Given the description of an element on the screen output the (x, y) to click on. 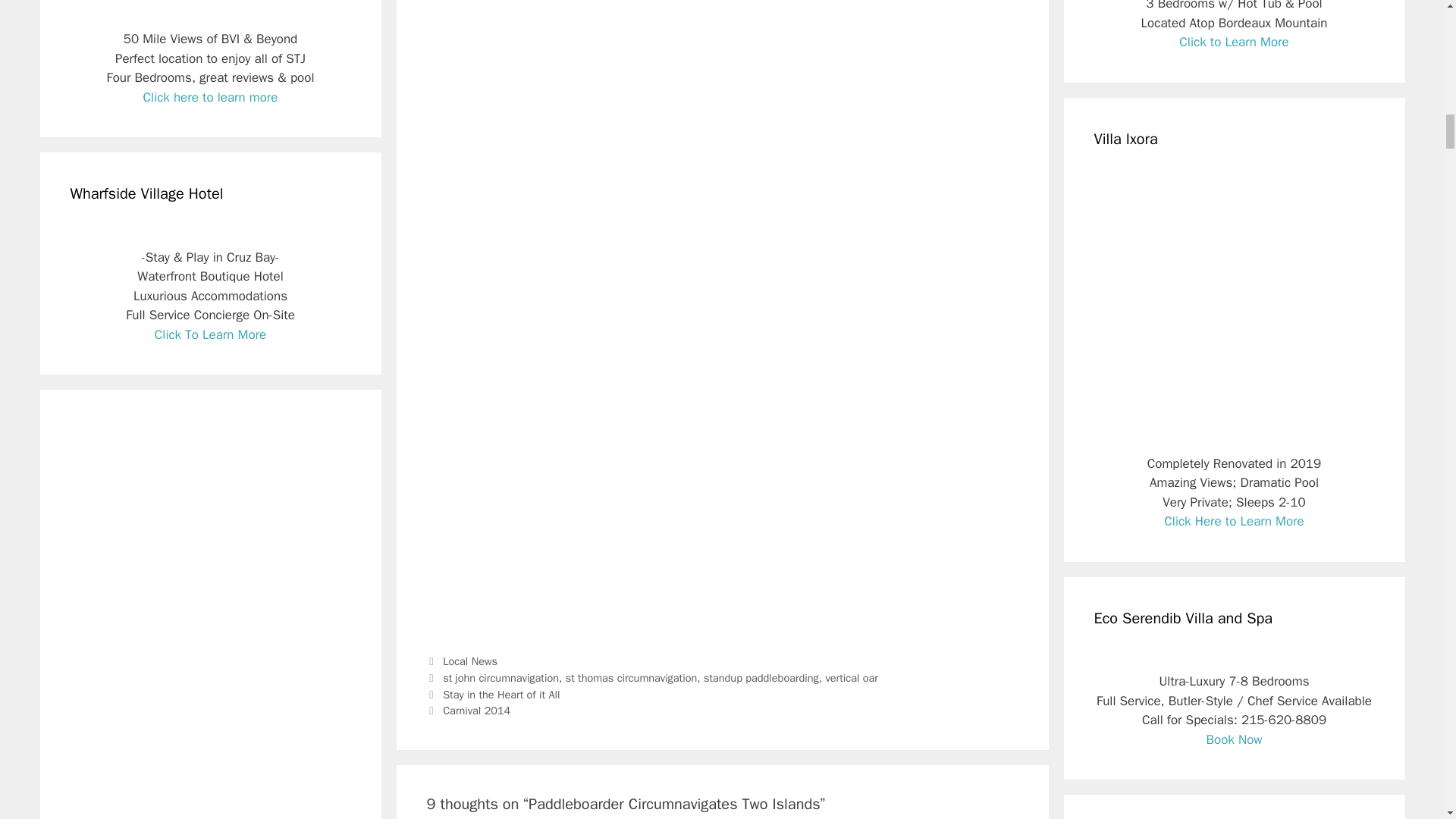
Local News (469, 661)
Carnival 2014 (476, 710)
st thomas circumnavigation (631, 677)
Next (468, 710)
Stay in the Heart of it All (500, 694)
standup paddleboarding (760, 677)
Advertisement (553, 288)
vertical oar (851, 677)
Advertisement (721, 526)
Previous (492, 694)
